Given the description of an element on the screen output the (x, y) to click on. 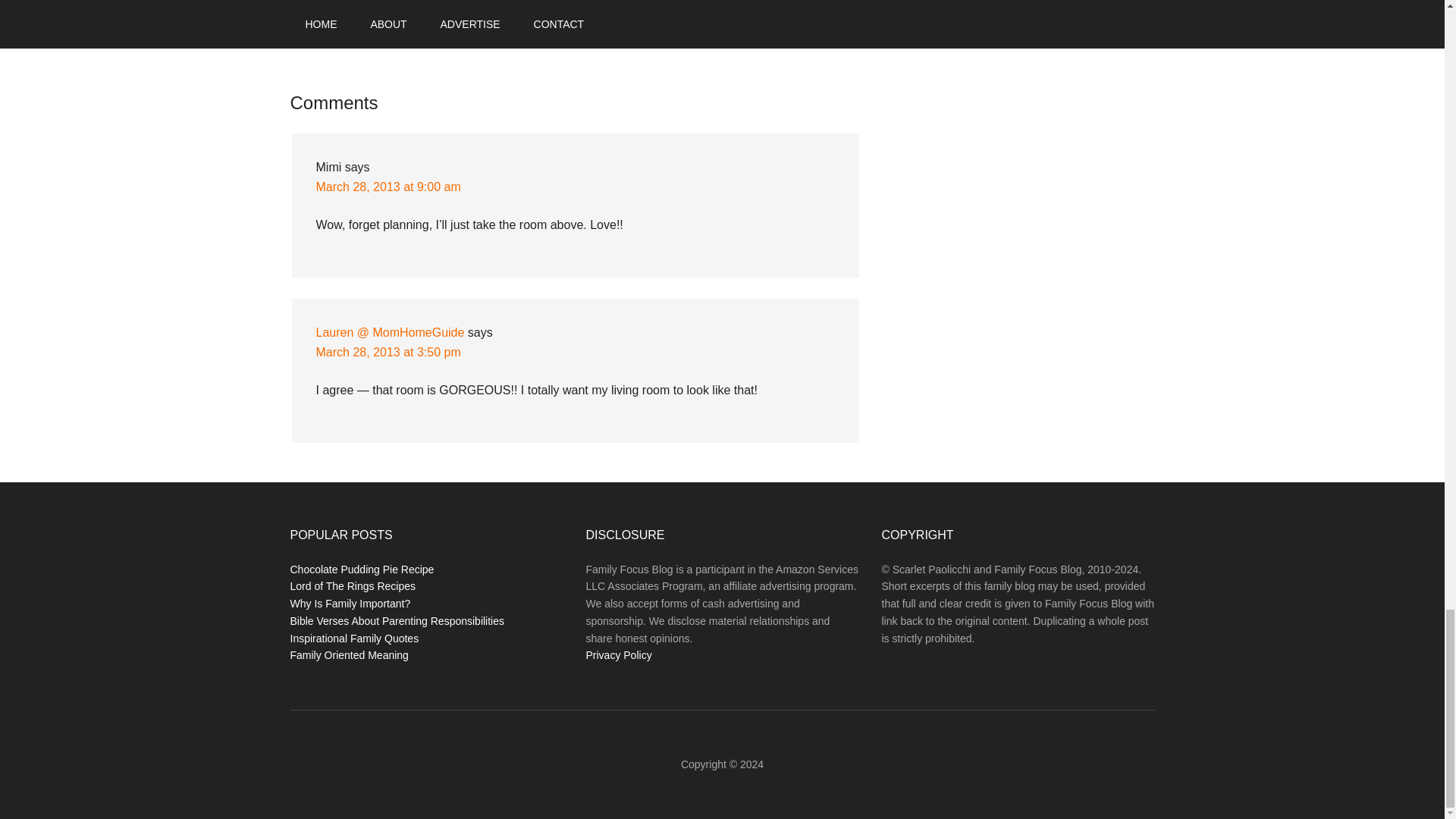
furniture (374, 19)
Home Decor (380, 4)
